Given the description of an element on the screen output the (x, y) to click on. 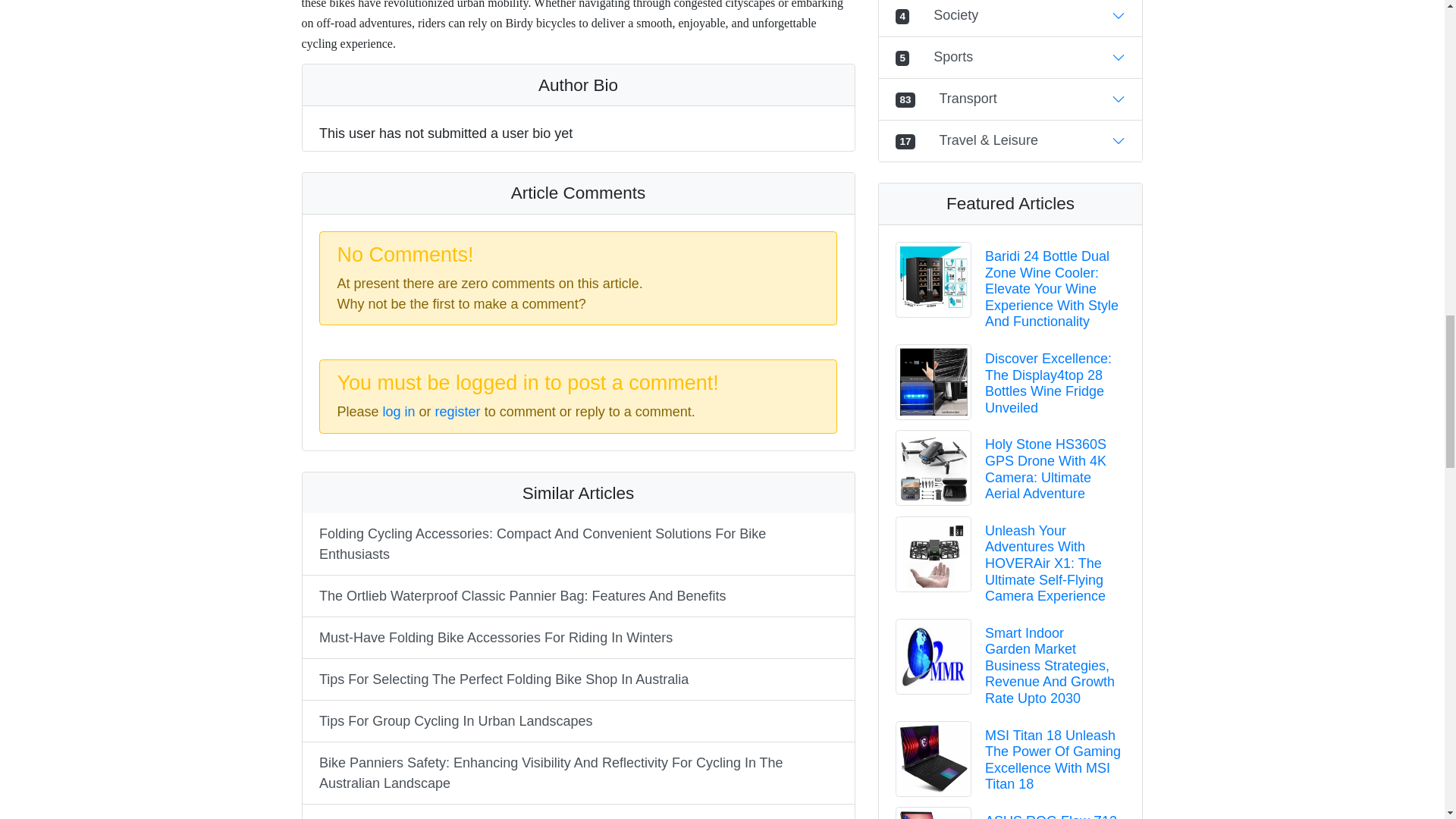
Tips For Group Cycling In Urban Landscapes (577, 721)
Must-Have Folding Bike Accessories For Riding In Winters (577, 637)
